Given the description of an element on the screen output the (x, y) to click on. 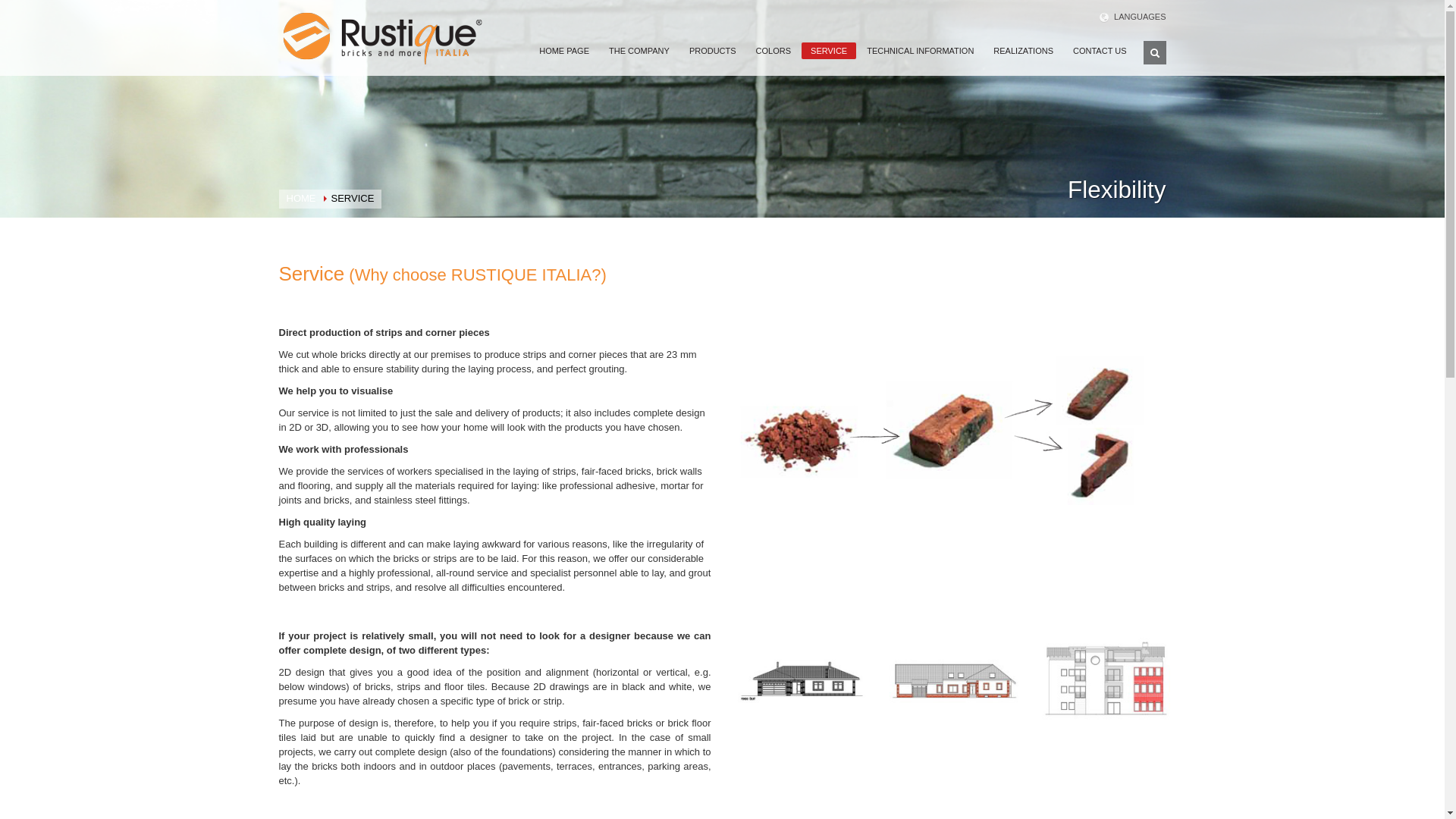
PRODUCTS (712, 50)
TECHNICAL INFORMATION (919, 50)
RustiqueItalia - Home (381, 38)
LANGUAGES (1132, 16)
HOME PAGE (563, 50)
THE COMPANY (638, 50)
CONTACT US (1099, 50)
HOME (300, 197)
SERVICE (829, 50)
COLORS (772, 50)
